Given the description of an element on the screen output the (x, y) to click on. 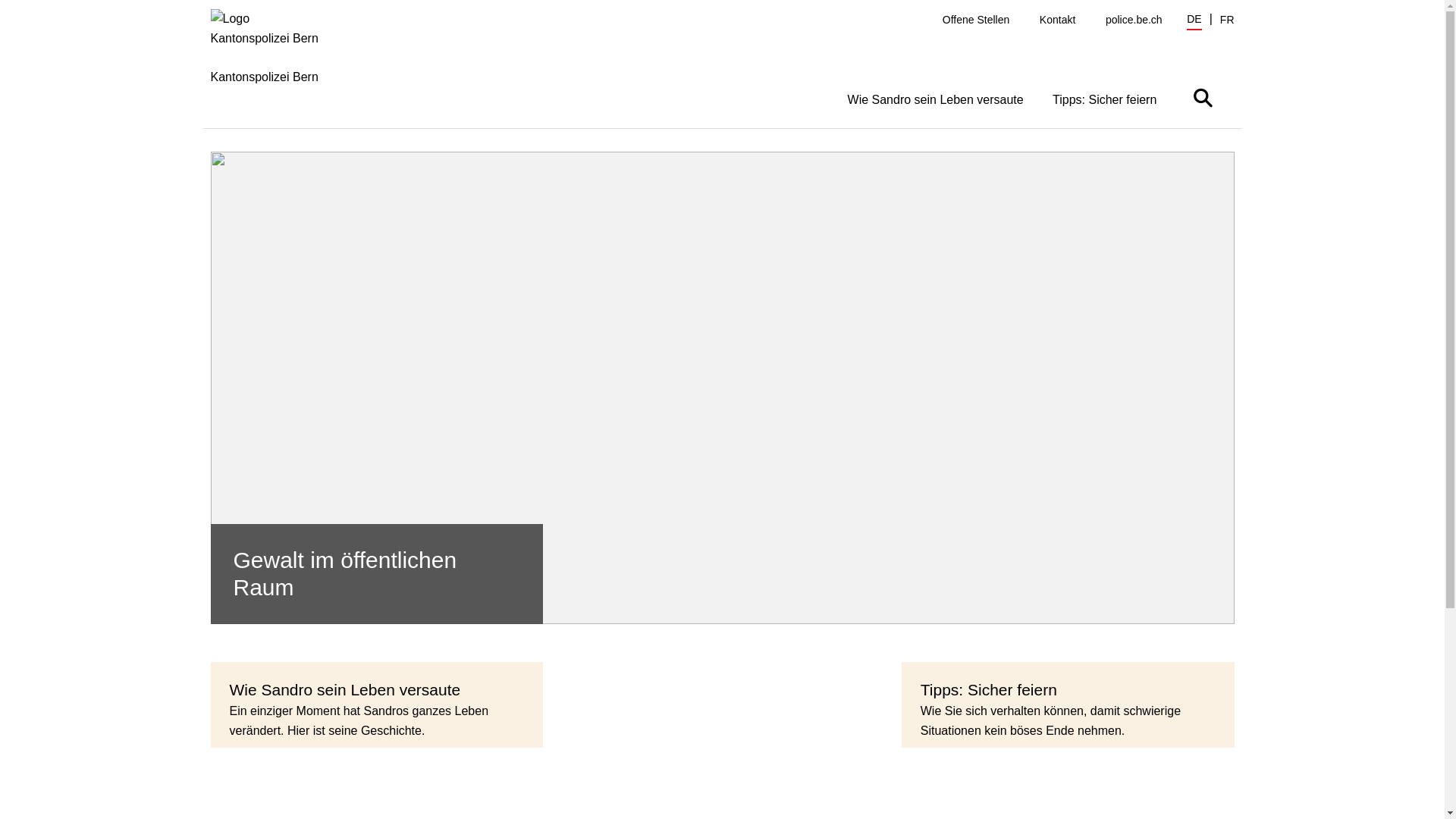
Offene Stellen Element type: text (975, 19)
Kontakt Element type: text (1057, 19)
DE Element type: text (1193, 21)
Suche ein- oder ausblenden Element type: text (1201, 96)
Wie Sandro sein Leben versaute Element type: text (935, 97)
FR Element type: text (1227, 19)
Tipps: Sicher feiern Element type: text (1104, 97)
police.be.ch Element type: text (1133, 19)
Kantonspolizei Bern Element type: text (275, 68)
